Given the description of an element on the screen output the (x, y) to click on. 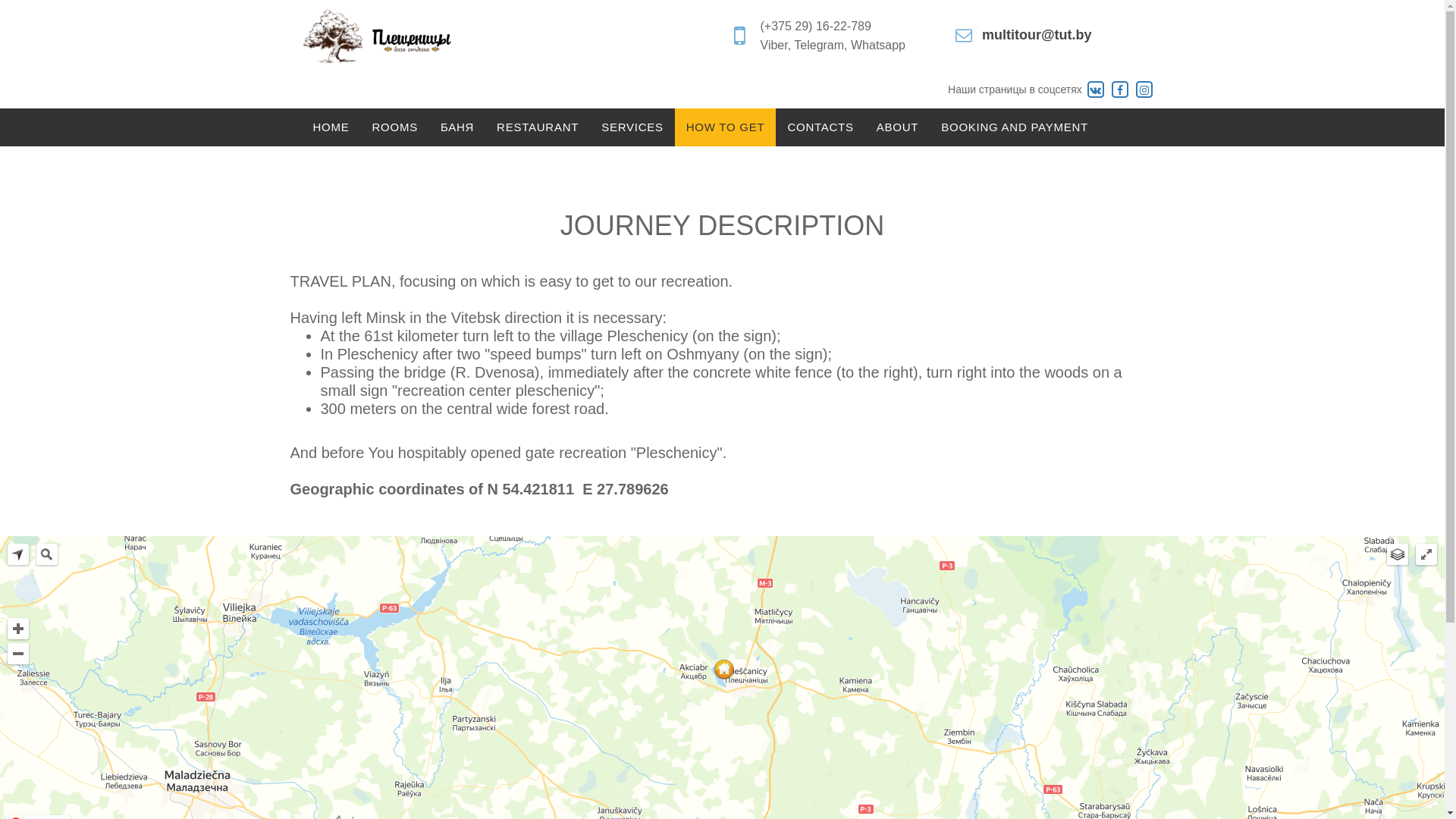
BOOKING AND PAYMENT Element type: text (1014, 127)
ABOUT Element type: text (897, 127)
CONTACTS Element type: text (819, 127)
Search Element type: hover (46, 553)
ROOMS Element type: text (394, 127)
multitour@tut.by Element type: text (1037, 34)
HOW TO GET Element type: text (725, 127)
Detect your current location Element type: hover (17, 553)
SERVICES Element type: text (631, 127)
HOME Element type: text (330, 127)
RESTAURANT Element type: text (537, 127)
